Given the description of an element on the screen output the (x, y) to click on. 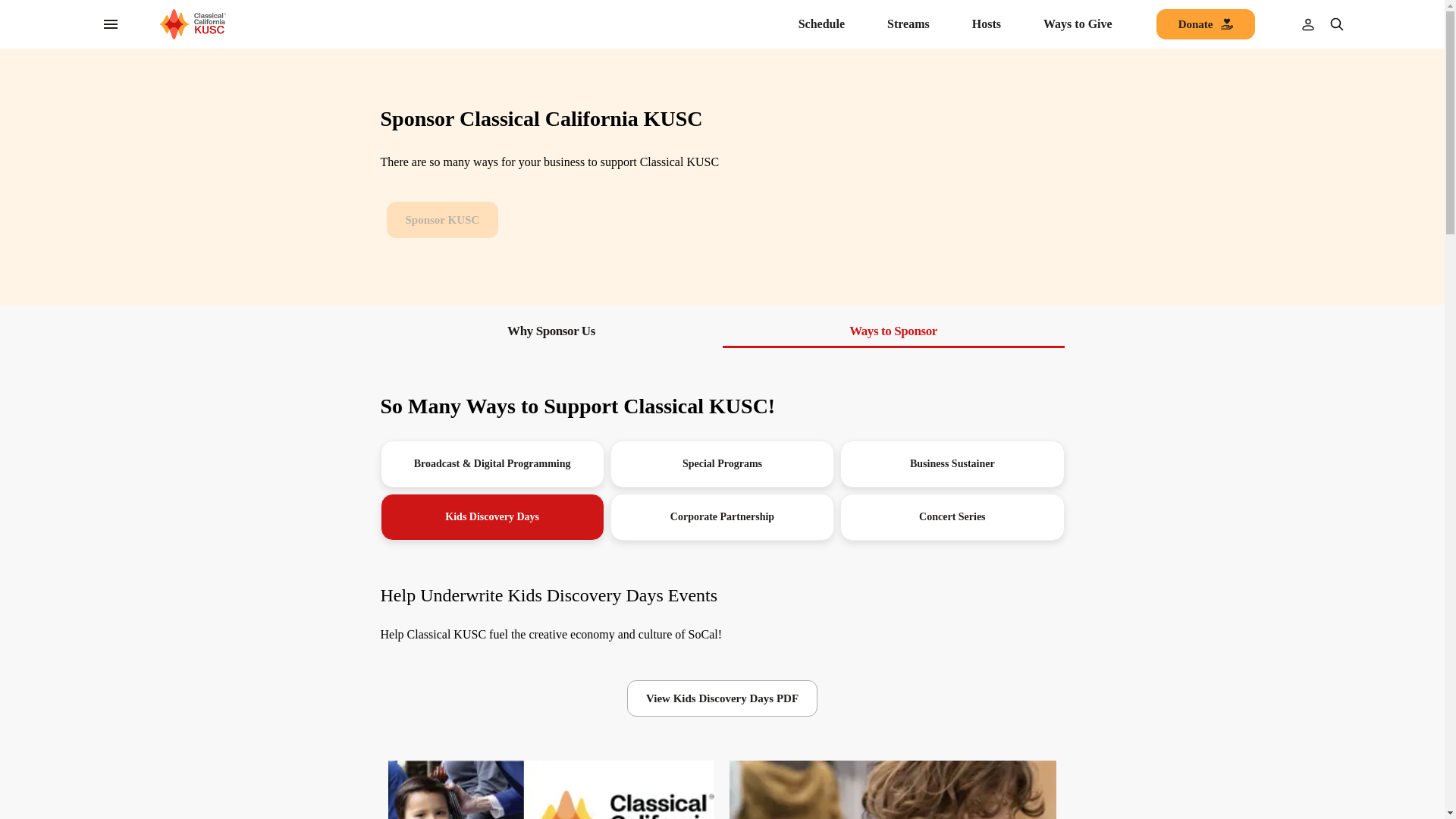
Schedule (820, 24)
Corporate Partnership (722, 516)
Concert Series (952, 516)
Business Sustainer (952, 463)
HOME (191, 24)
Streams (908, 24)
Special Programs (722, 463)
View Kids Discovery Days PDF (721, 698)
Kids Discovery Days (492, 516)
Hosts (986, 24)
